Given the description of an element on the screen output the (x, y) to click on. 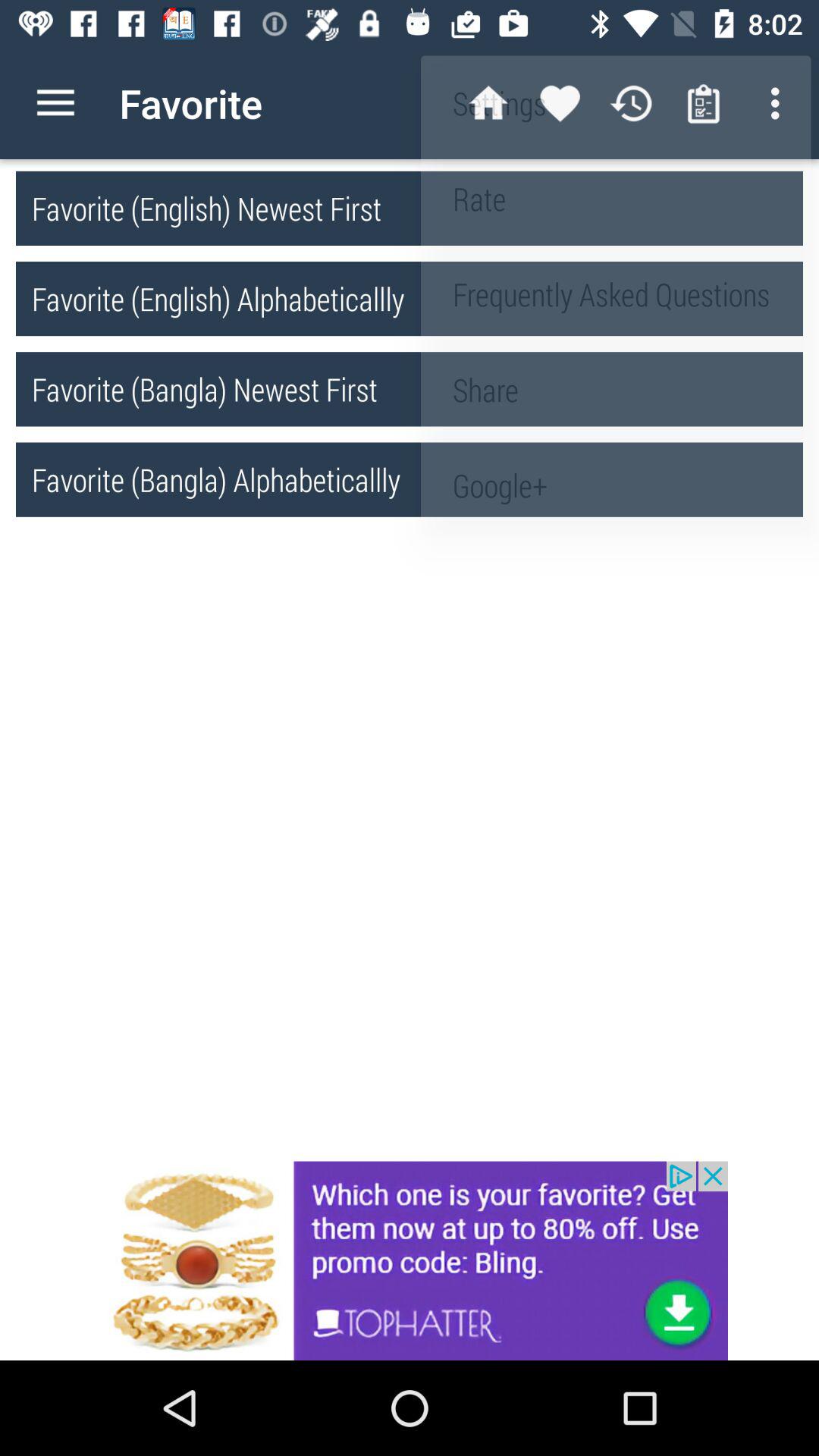
advertisement button for tophatter (409, 1260)
